Given the description of an element on the screen output the (x, y) to click on. 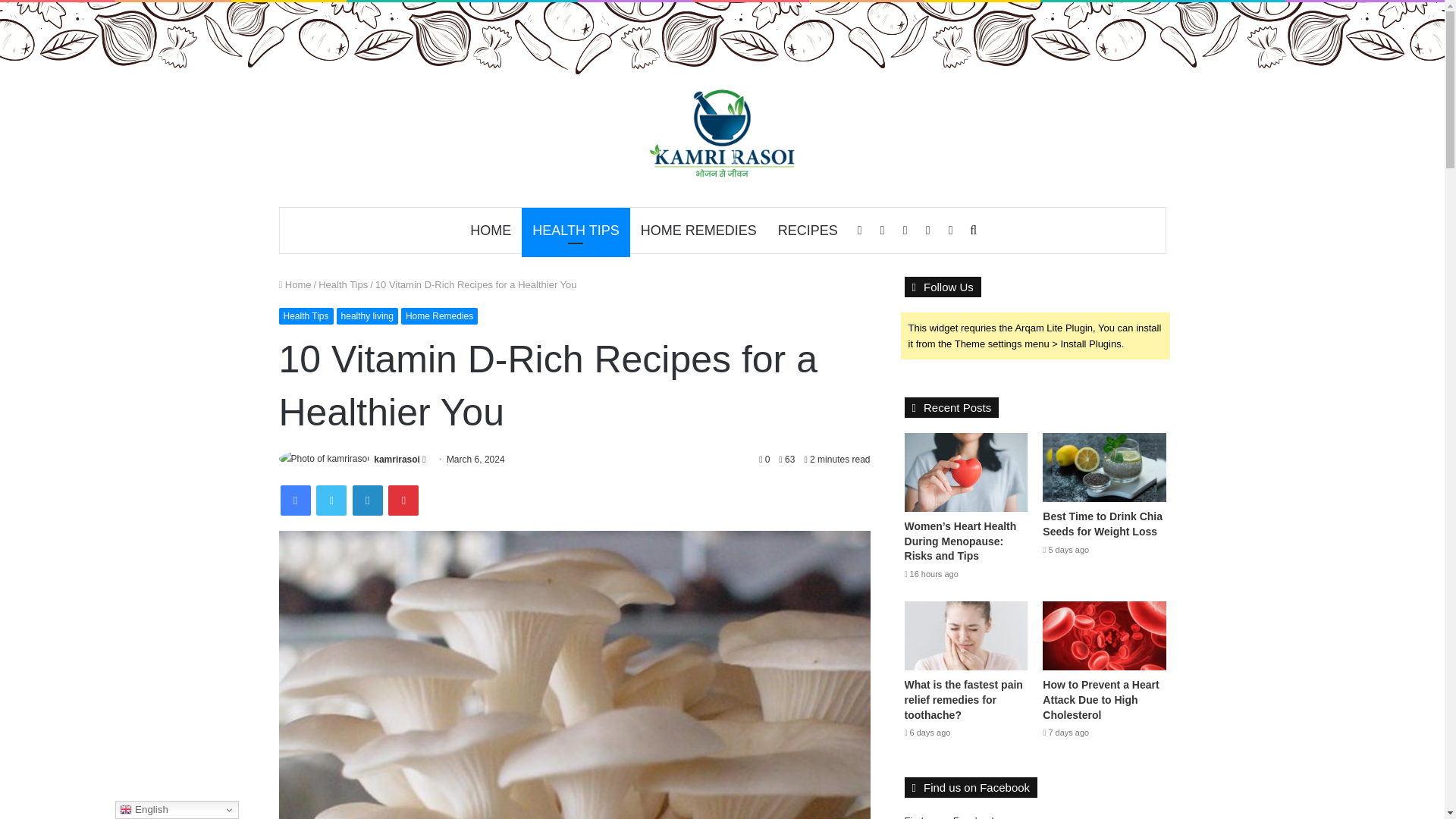
LinkedIn (367, 500)
healthy living (366, 315)
Pinterest (403, 500)
Home Remedies (439, 315)
Twitter (330, 500)
kamrirasoi (397, 459)
Facebook (296, 500)
Health Tips (306, 315)
LinkedIn (367, 500)
Twitter (330, 500)
